Given the description of an element on the screen output the (x, y) to click on. 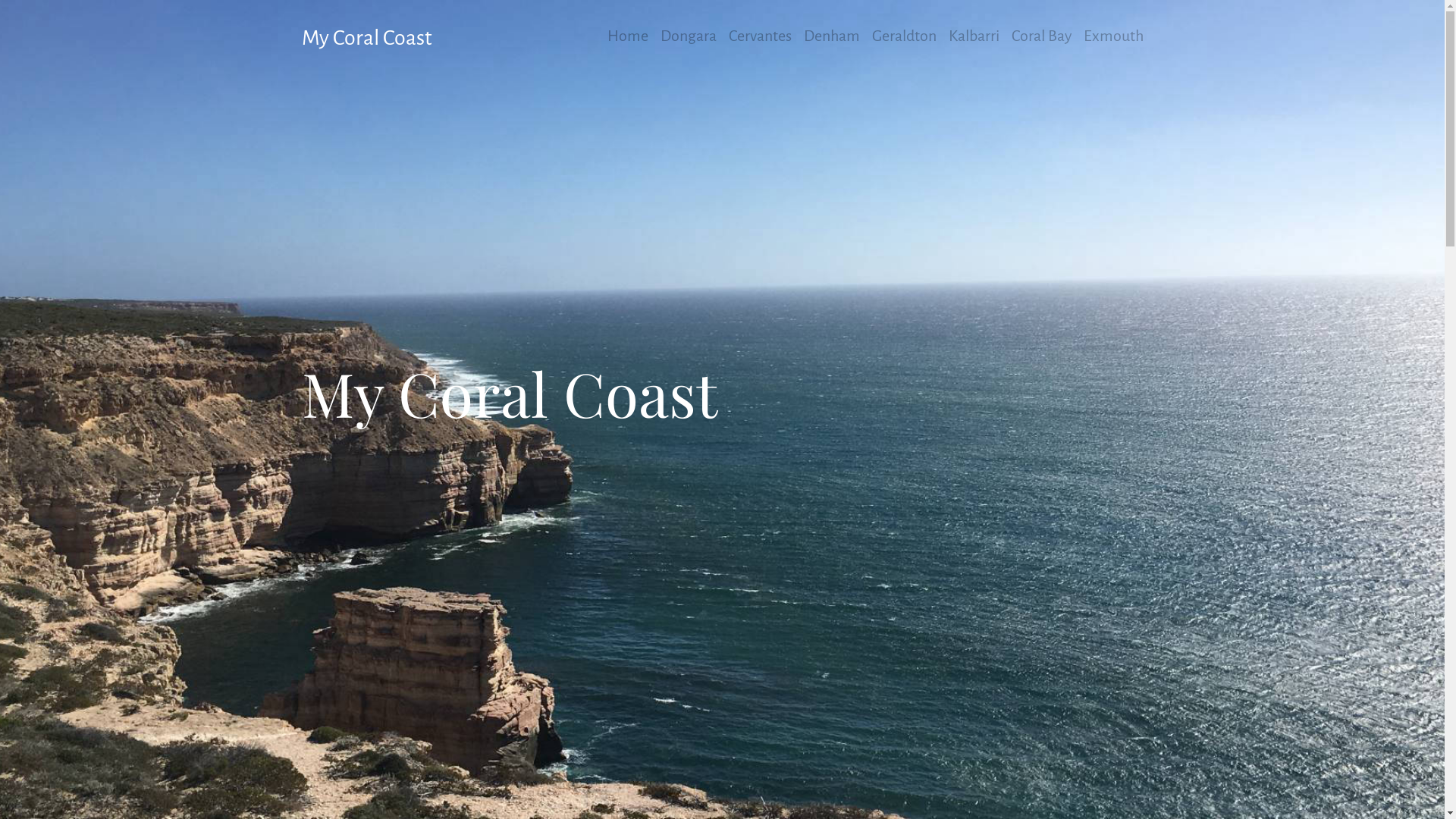
Dongara Element type: text (687, 35)
Geraldton Element type: text (904, 35)
Home Element type: text (626, 35)
Cervantes Element type: text (759, 35)
Kalbarri Element type: text (972, 35)
Denham Element type: text (831, 35)
Coral Bay Element type: text (1041, 35)
My Coral Coast Element type: text (366, 38)
Exmouth Element type: text (1112, 35)
